Given the description of an element on the screen output the (x, y) to click on. 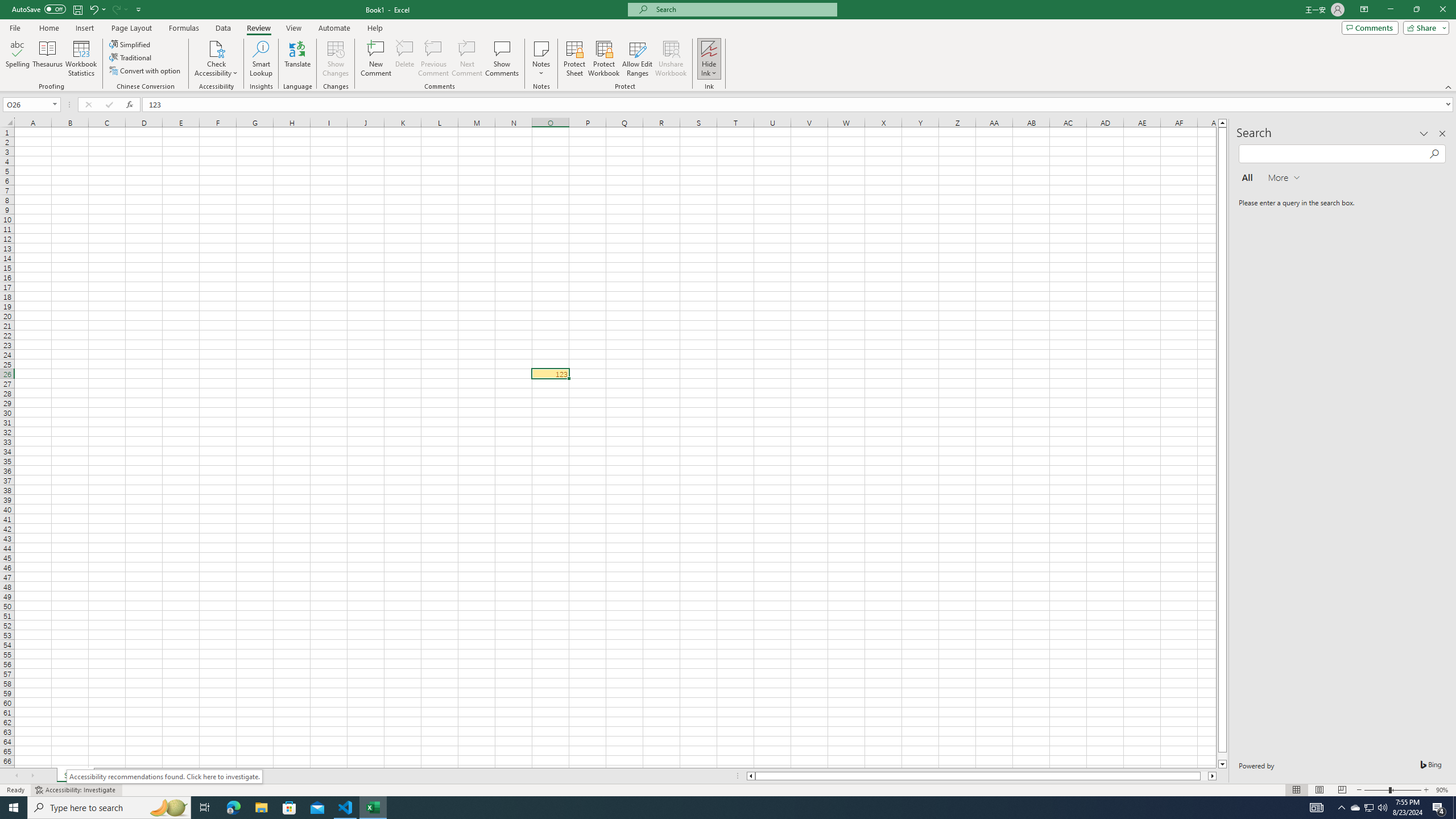
Unshare Workbook (670, 58)
Accessibility Checker Accessibility: Investigate (76, 790)
Traditional (131, 56)
Sheet2 (112, 775)
